Given the description of an element on the screen output the (x, y) to click on. 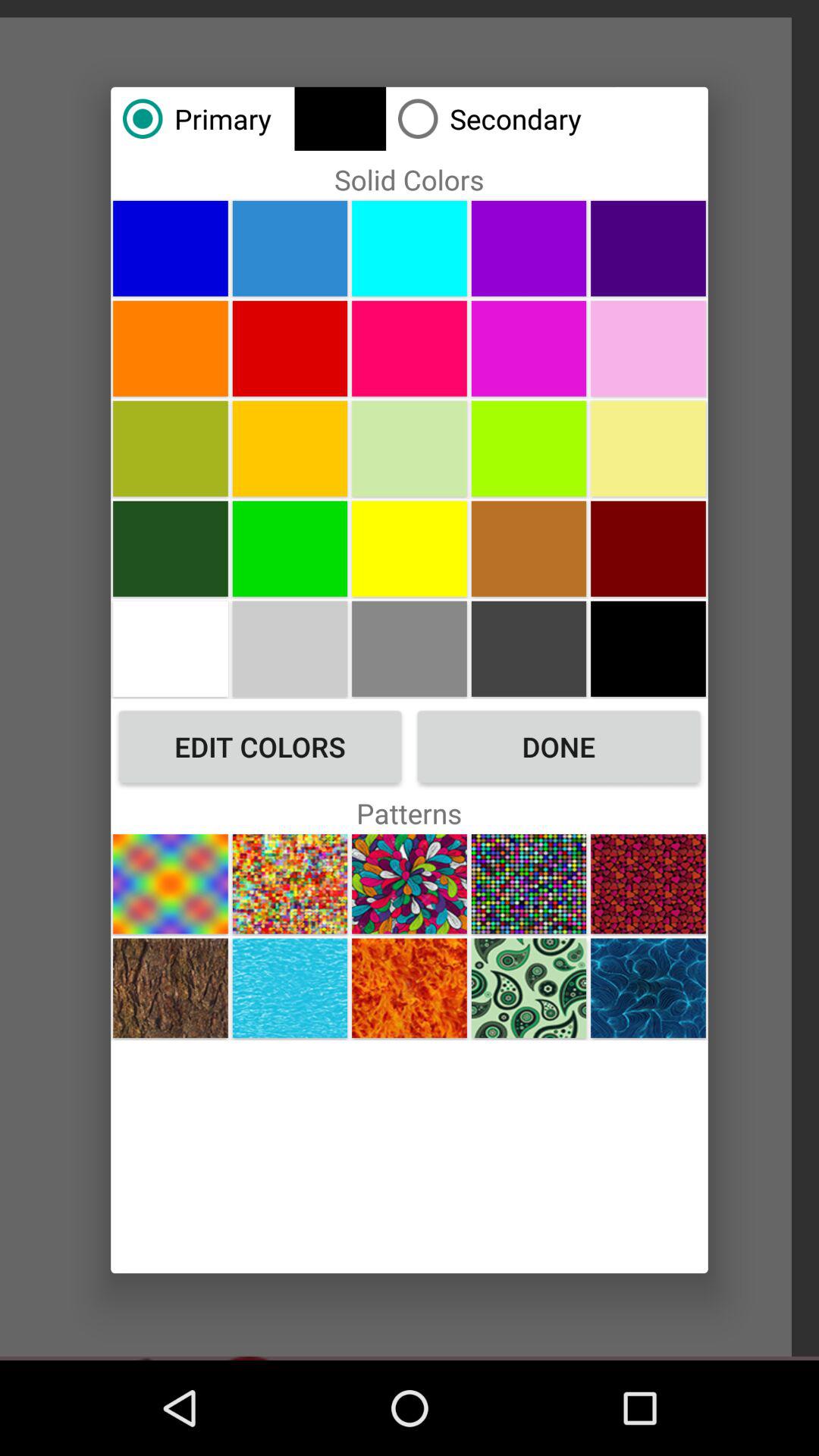
choose pattern (289, 883)
